Given the description of an element on the screen output the (x, y) to click on. 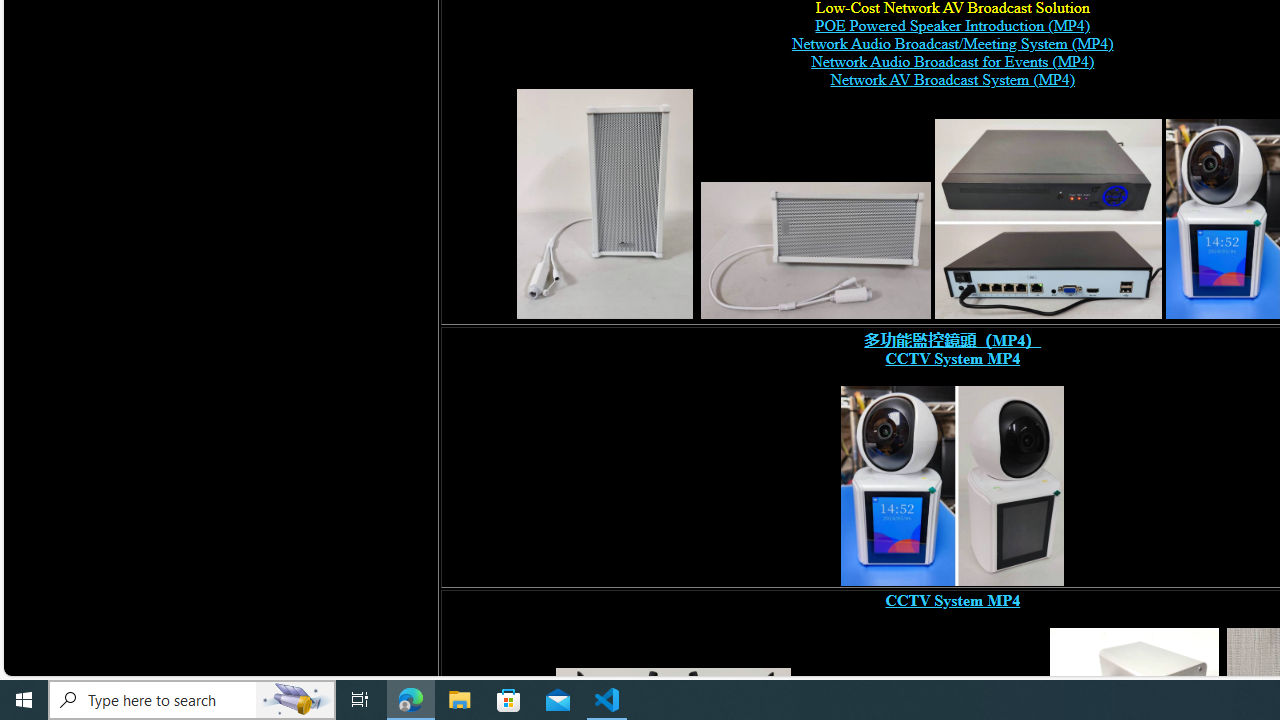
POE switch, digital network video recorder, (1048, 218)
POE Powered Speaker Introduction (MP4) (952, 26)
Network Audio Broadcast for Events (MP4)  (952, 62)
Network Audio Broadcast/Meeting System (MP4) (952, 44)
Network AV Broadcast System (MP4) (952, 80)
wireless network camera, (952, 485)
CCTV System MP4 (952, 600)
